Given the description of an element on the screen output the (x, y) to click on. 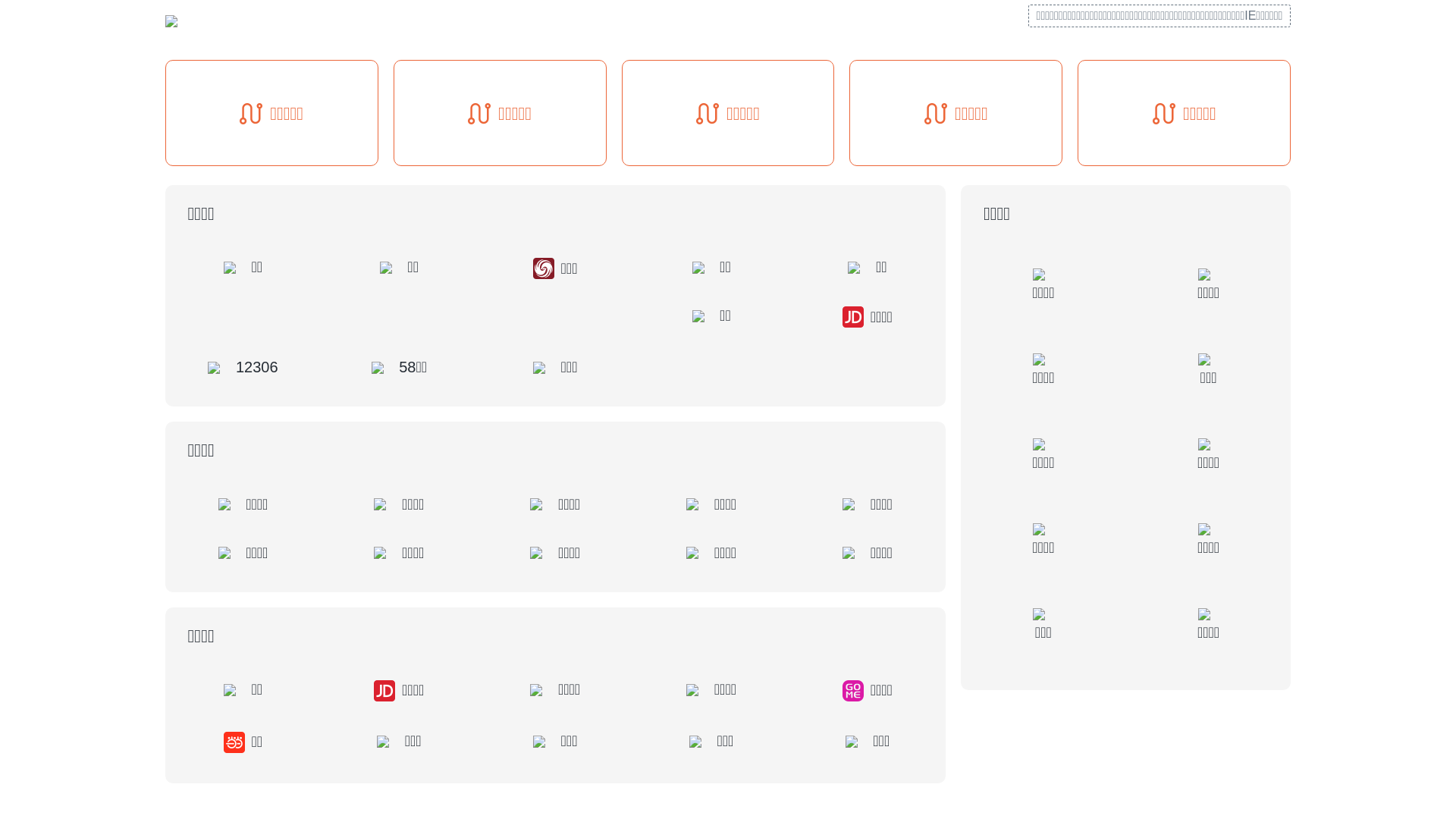
12306 Element type: text (243, 366)
